Given the description of an element on the screen output the (x, y) to click on. 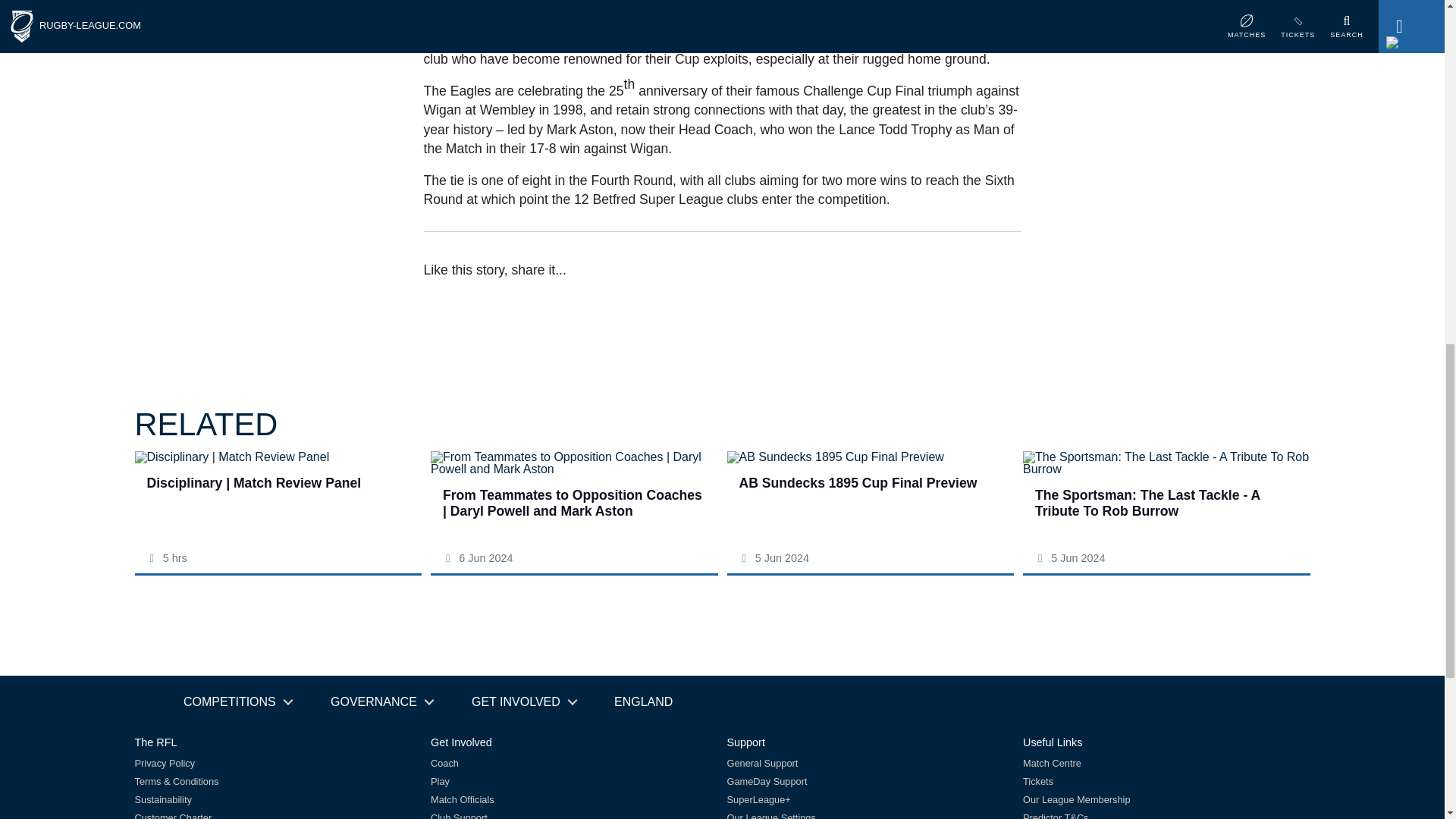
COMPETITIONS (237, 701)
